Given the description of an element on the screen output the (x, y) to click on. 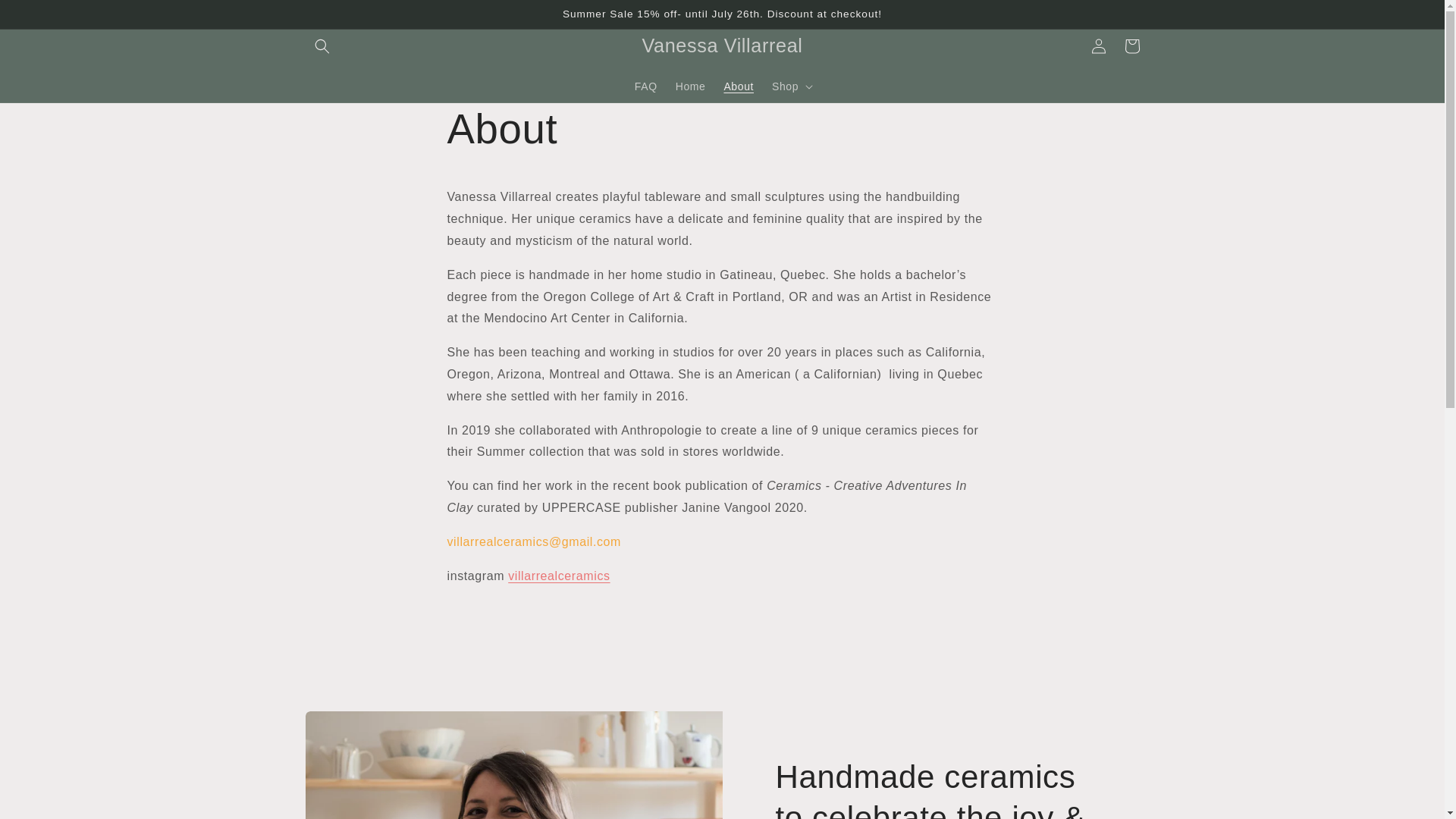
About (738, 86)
Cart (1131, 46)
Skip to content (45, 17)
instagram (559, 575)
Home (690, 86)
Vanessa Villarreal (722, 45)
FAQ (646, 86)
Log in (1098, 46)
